Given the description of an element on the screen output the (x, y) to click on. 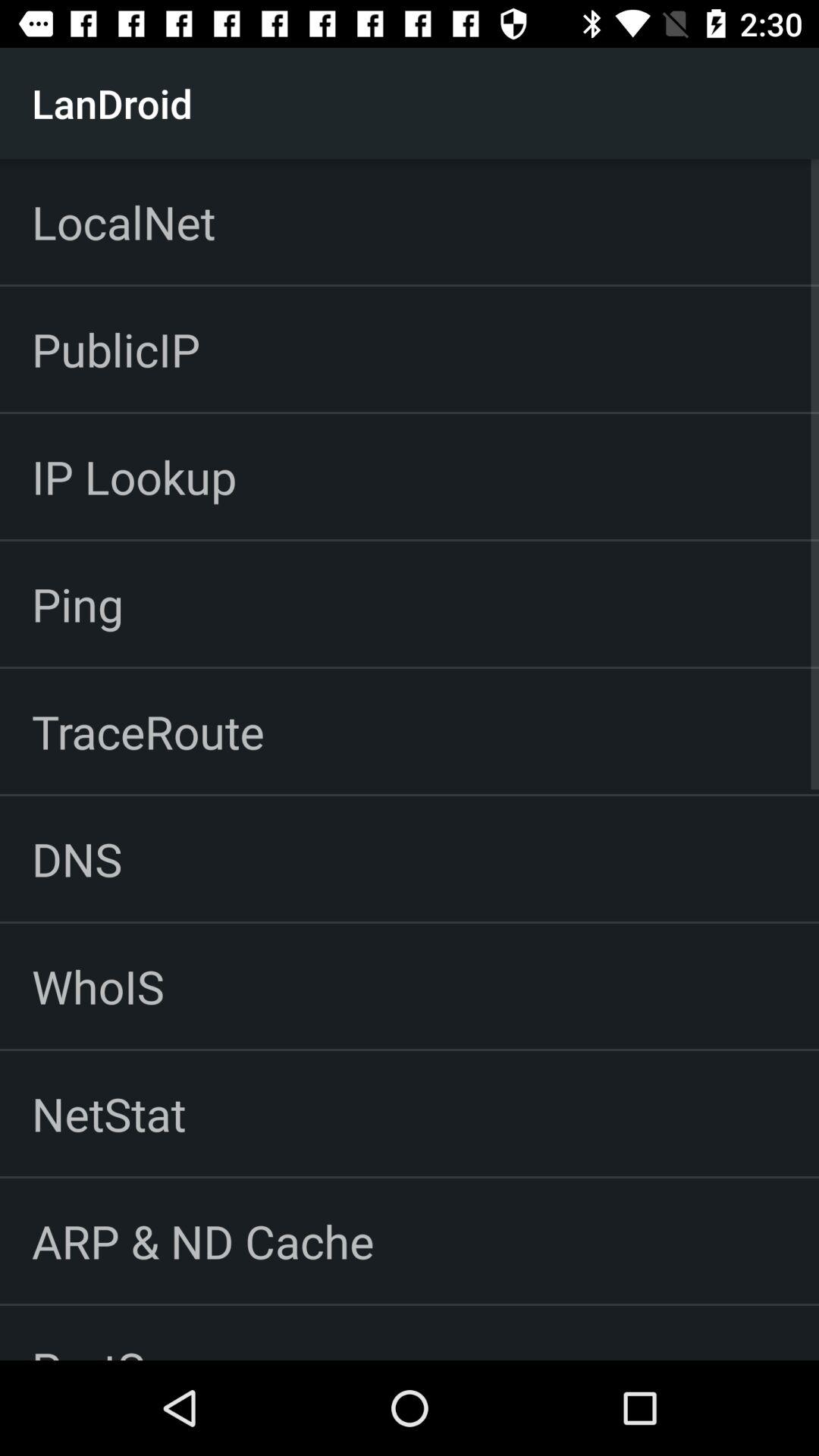
swipe to traceroute app (148, 730)
